Given the description of an element on the screen output the (x, y) to click on. 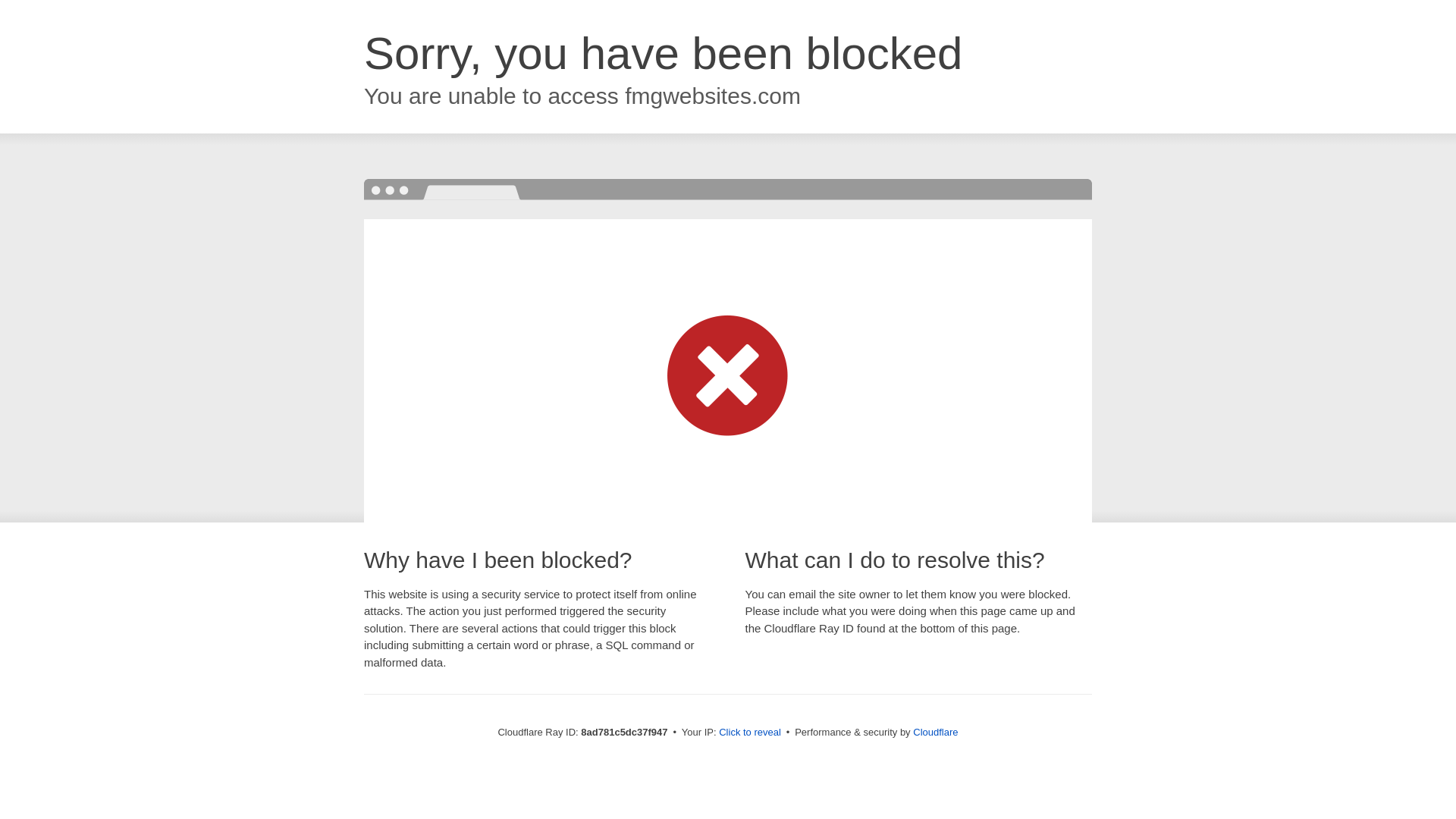
Click to reveal (749, 732)
Cloudflare (935, 731)
